Given the description of an element on the screen output the (x, y) to click on. 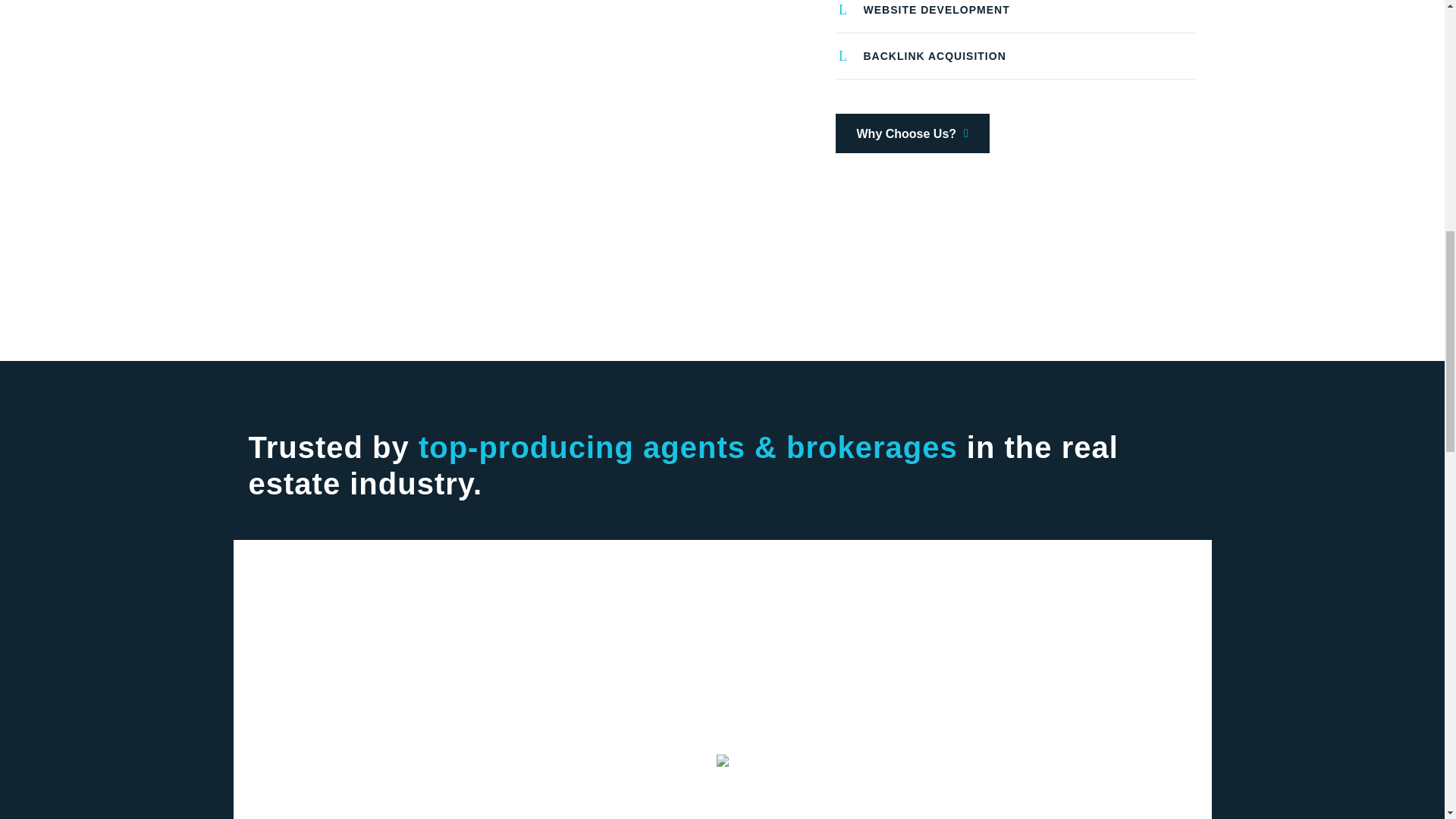
Why Choose Us? (912, 133)
